Given the description of an element on the screen output the (x, y) to click on. 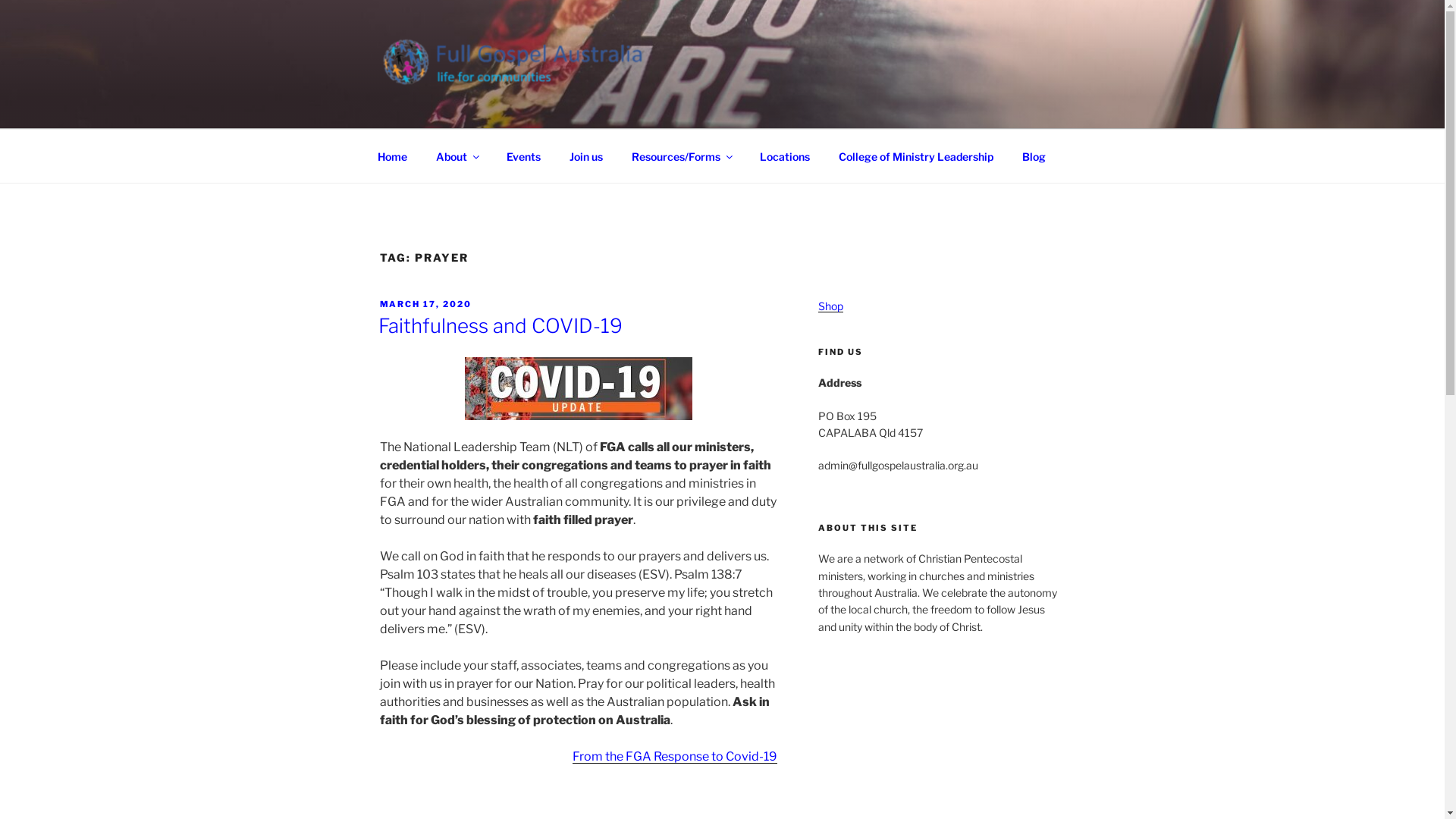
From the FGA Response to Covid-19 Element type: text (674, 756)
Blog Element type: text (1033, 156)
Home Element type: text (392, 156)
Shop Element type: text (830, 305)
Resources/Forms Element type: text (681, 156)
College of Ministry Leadership Element type: text (915, 156)
Events Element type: text (522, 156)
Join us Element type: text (586, 156)
About Element type: text (457, 156)
MARCH 17, 2020 Element type: text (425, 303)
Locations Element type: text (784, 156)
Faithfulness and COVID-19 Element type: text (499, 325)
